Given the description of an element on the screen output the (x, y) to click on. 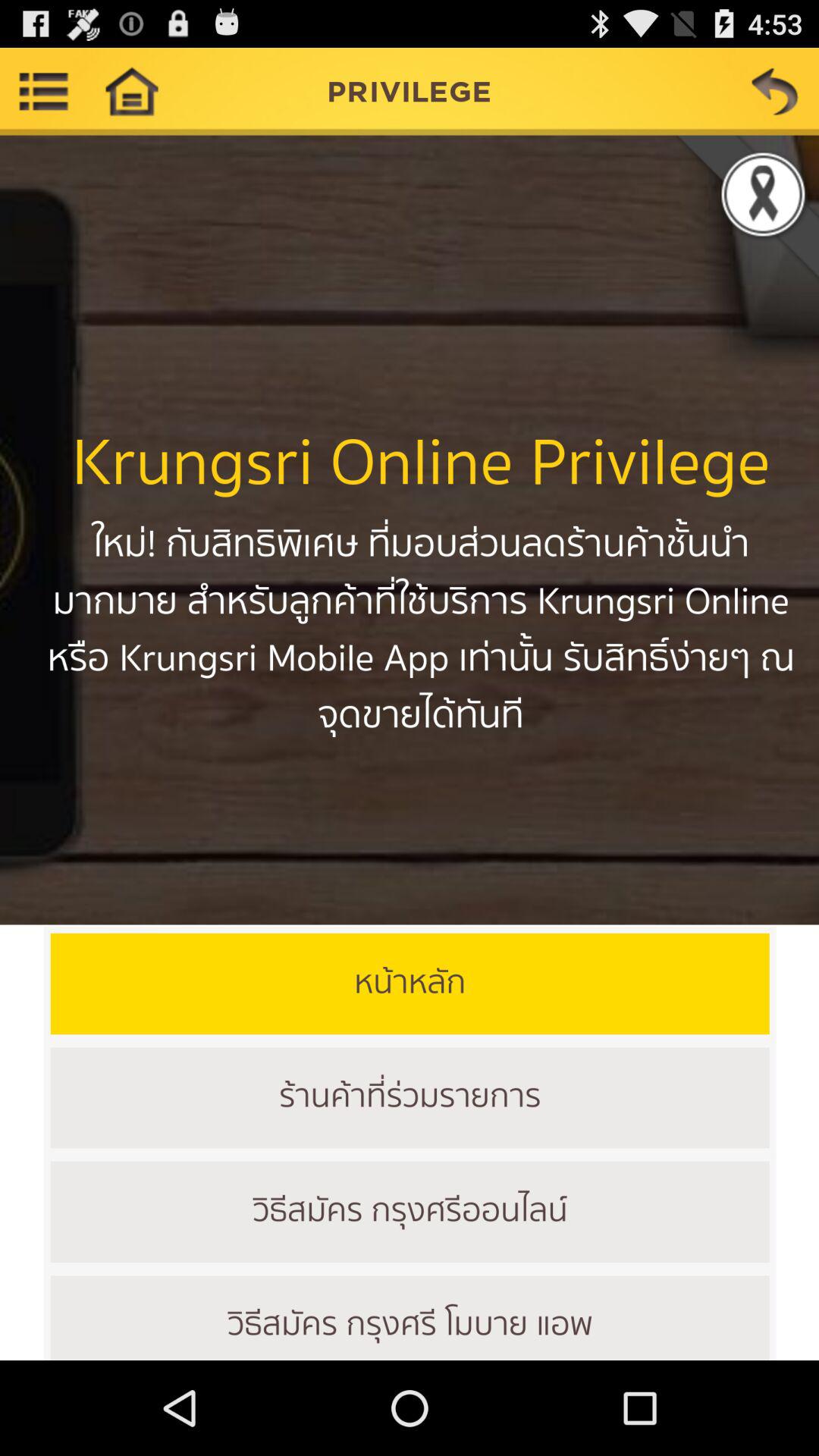
home pega (131, 91)
